Given the description of an element on the screen output the (x, y) to click on. 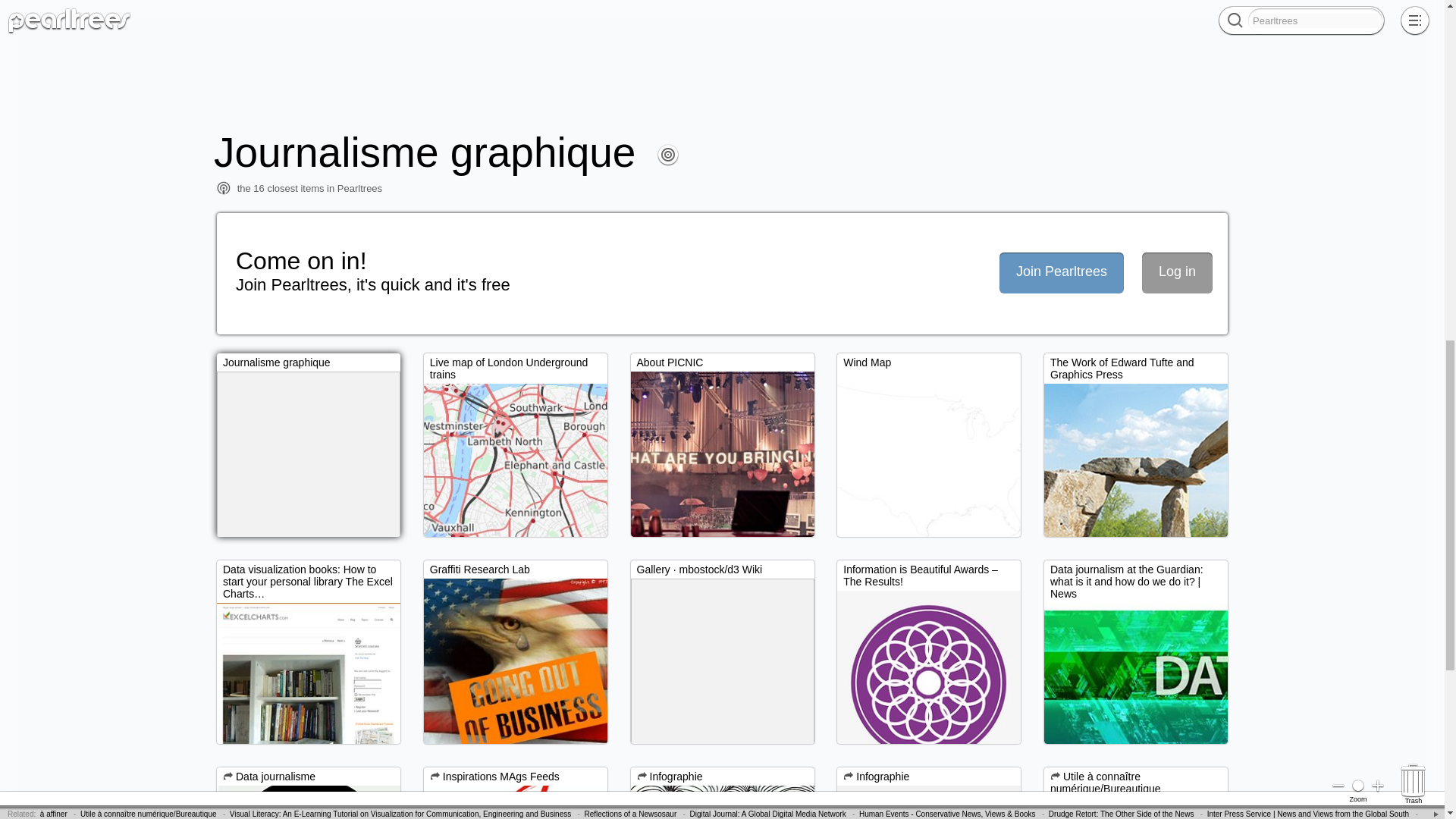
beet cake on Vimeo (458, 46)
Datavisualization.fr (773, 33)
Journal home : Nature (705, 14)
OpenStreetMap Wiki (708, 26)
Kunstformen der Natur - Wikimedia Commons (1343, 33)
Nieman Reports (1266, 8)
